Given the description of an element on the screen output the (x, y) to click on. 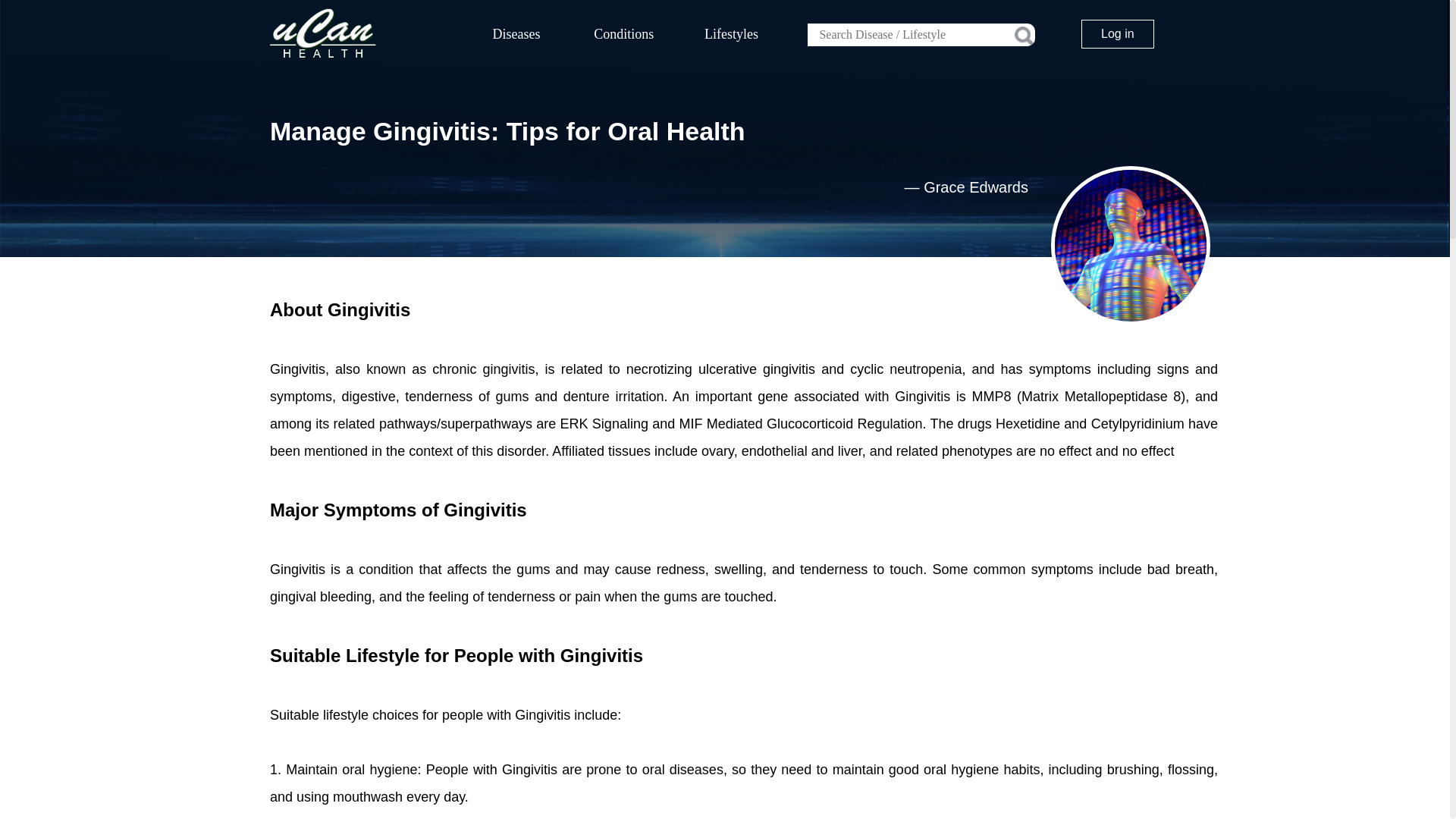
Diseases (516, 34)
Log in (1117, 33)
Grace Edwards (975, 187)
Conditions (624, 34)
Lifestyles (732, 34)
